Given the description of an element on the screen output the (x, y) to click on. 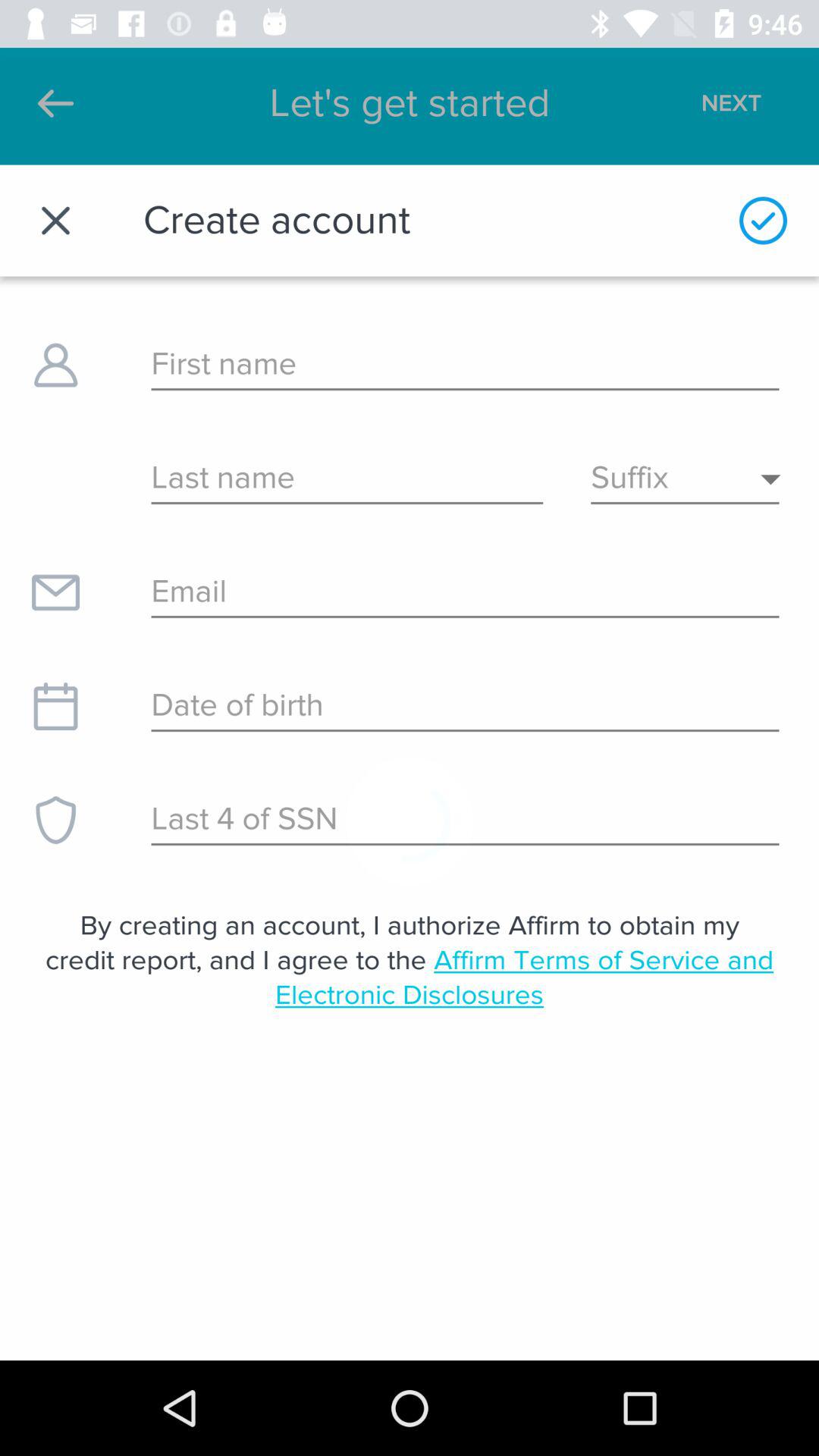
click on next (763, 103)
